Given the description of an element on the screen output the (x, y) to click on. 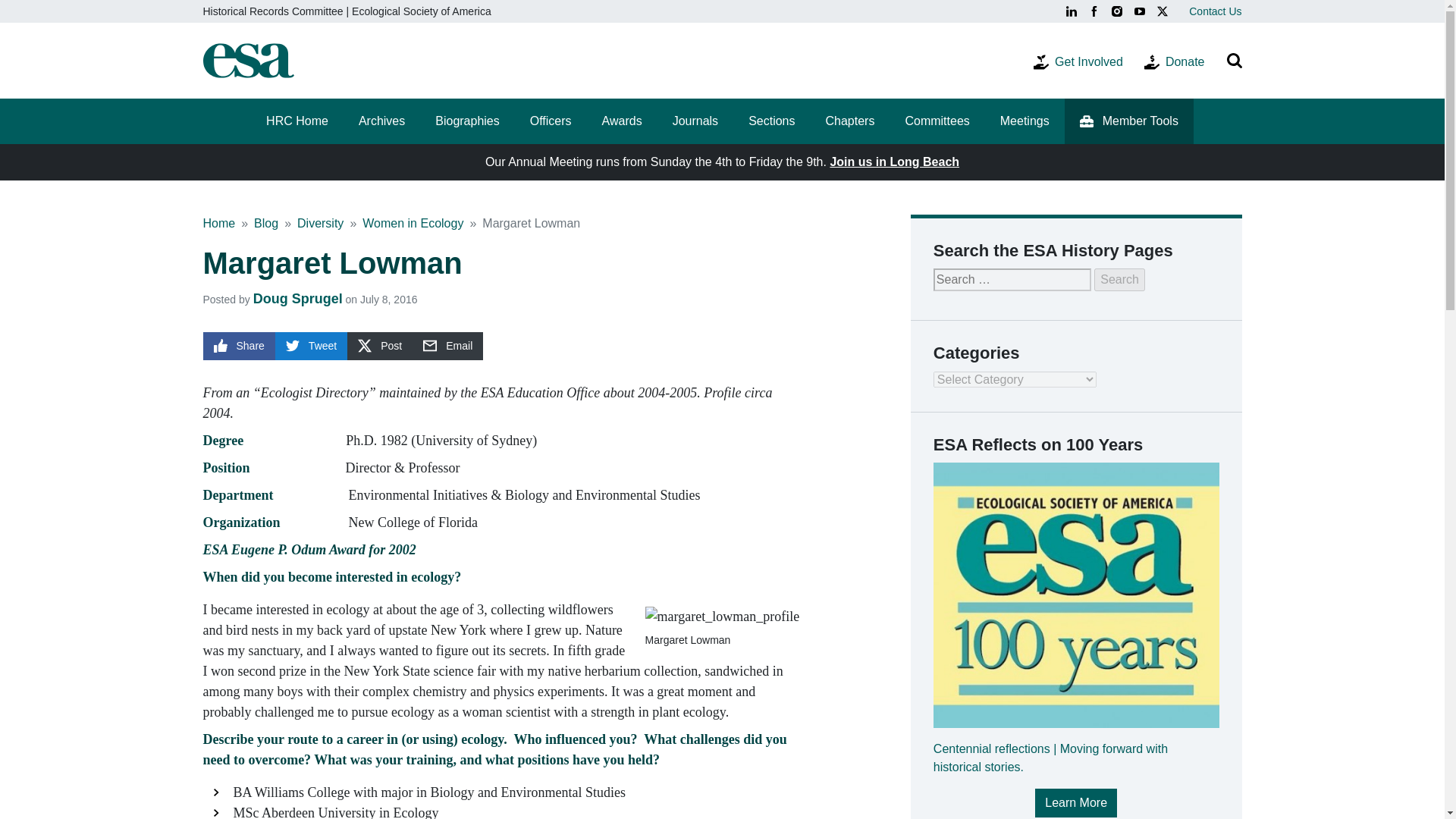
Women in Ecology (412, 223)
Search (1119, 279)
Biographies (467, 121)
Contact Us (1215, 10)
Journals (695, 121)
Search (1119, 279)
Get Involved (1078, 61)
Sections (771, 121)
Archives (381, 121)
Join us in Long Beach (894, 161)
Committees (936, 121)
Meetings (1024, 121)
Blog (265, 223)
Member Tools (1128, 121)
Home (219, 223)
